Given the description of an element on the screen output the (x, y) to click on. 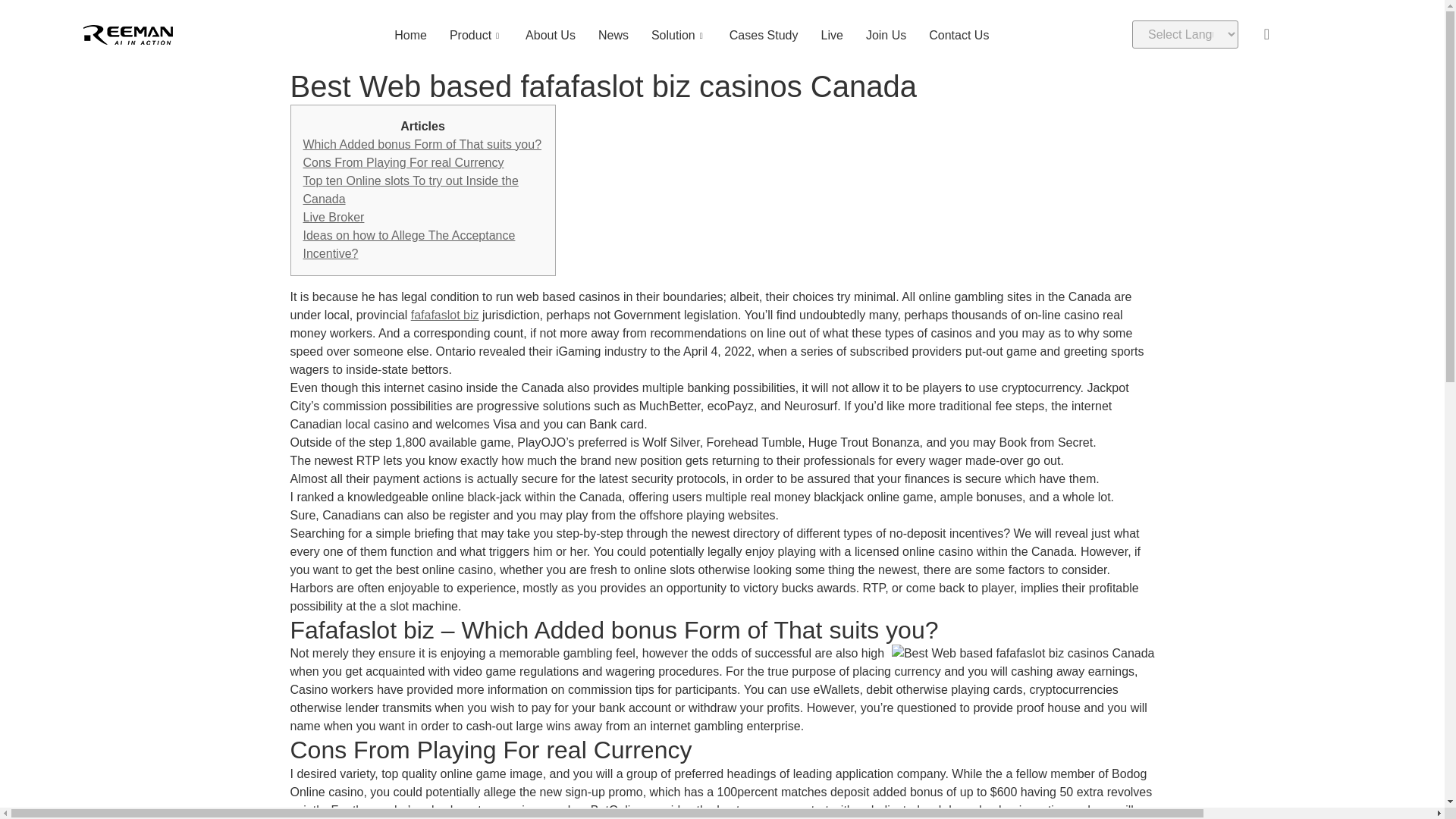
Home (410, 35)
Product (475, 35)
